Given the description of an element on the screen output the (x, y) to click on. 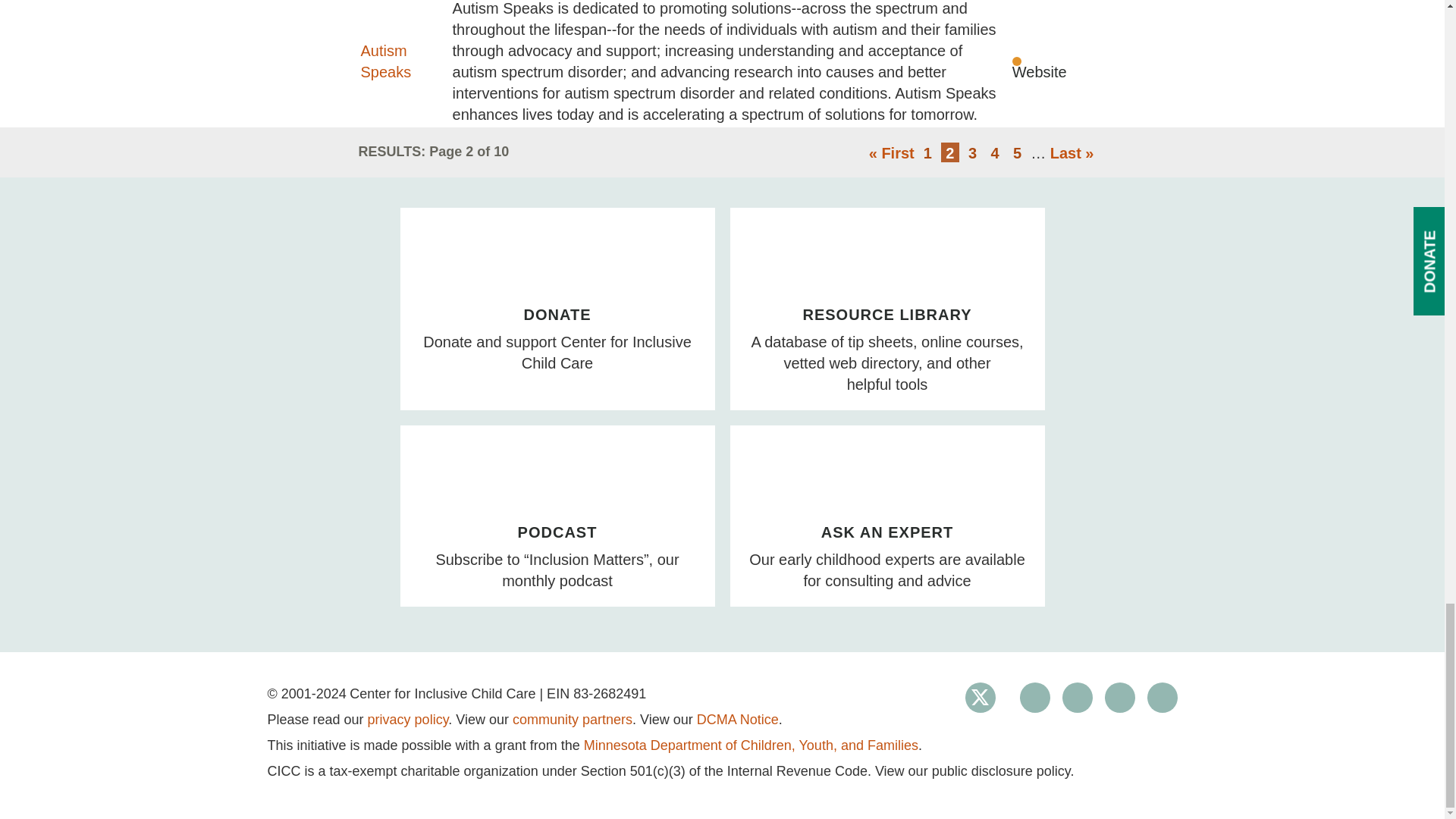
Go to page 1 (927, 152)
Go to page 5 (1017, 152)
Current page (949, 152)
Go to last page (1071, 152)
Go to page 4 (994, 152)
Go to first page (891, 152)
Go to page 3 (971, 152)
